Given the description of an element on the screen output the (x, y) to click on. 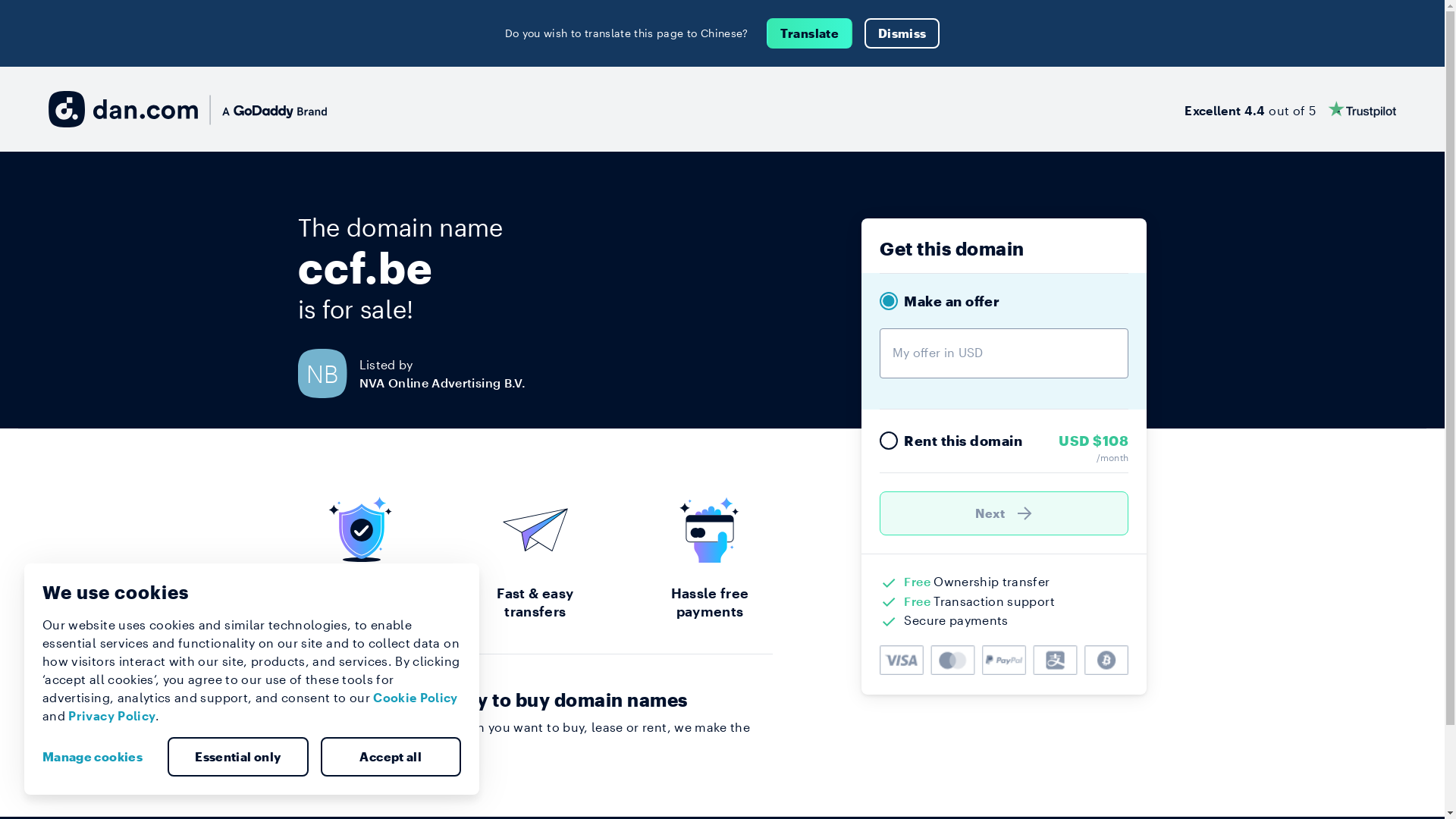
Dismiss Element type: text (901, 33)
Accept all Element type: text (390, 756)
Manage cookies Element type: text (98, 756)
Privacy Policy Element type: text (111, 715)
Next
) Element type: text (1003, 513)
Essential only Element type: text (237, 756)
Excellent 4.4 out of 5 Element type: text (1290, 109)
Translate Element type: text (809, 33)
Cookie Policy Element type: text (415, 697)
